Given the description of an element on the screen output the (x, y) to click on. 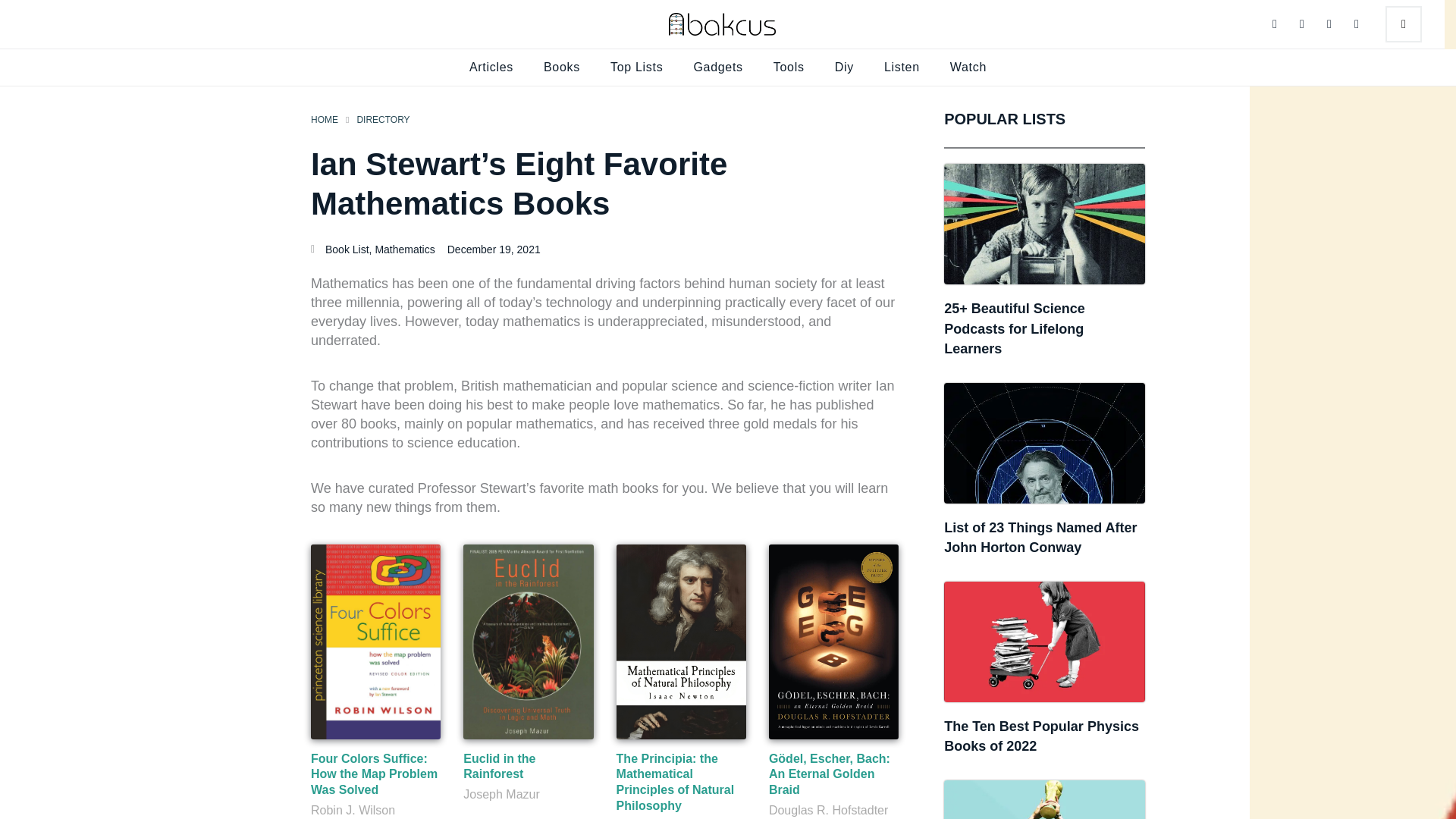
Pinterest (1356, 24)
Tools (788, 66)
Instagram (1301, 24)
Listen (901, 66)
Top Lists (636, 66)
Diy (844, 66)
Search (1405, 23)
Search (1404, 23)
Watch (967, 66)
Facebook (1329, 24)
Articles (491, 66)
Books (561, 66)
Twitter (1274, 24)
Gadgets (717, 66)
